Given the description of an element on the screen output the (x, y) to click on. 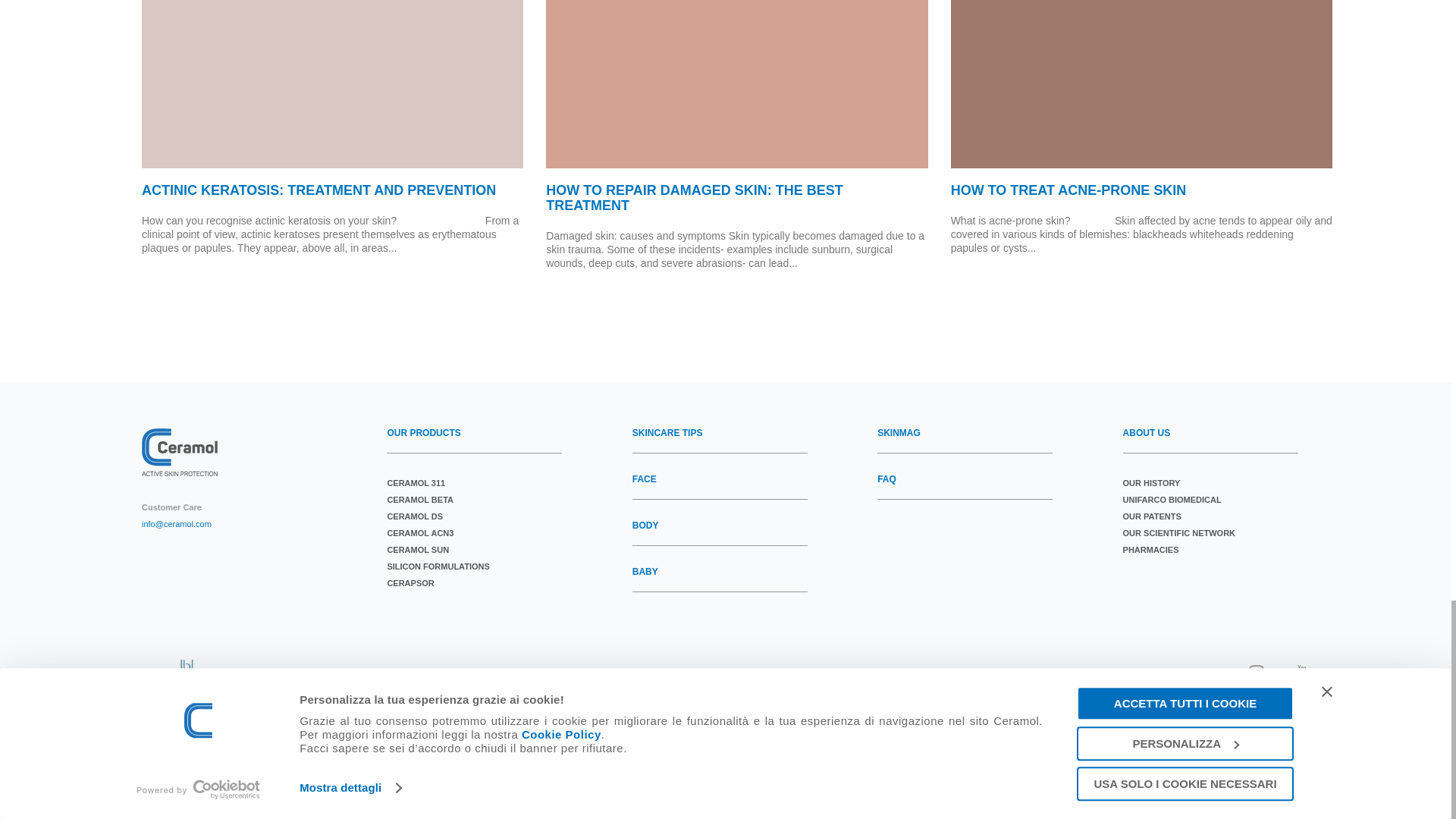
HOW TO TREAT ACNE-PRONE SKIN (1141, 191)
HOW TO REPAIR DAMAGED SKIN: THE BEST TREATMENT (736, 198)
ACTINIC KERATOSIS: TREATMENT AND PREVENTION (331, 191)
